Given the description of an element on the screen output the (x, y) to click on. 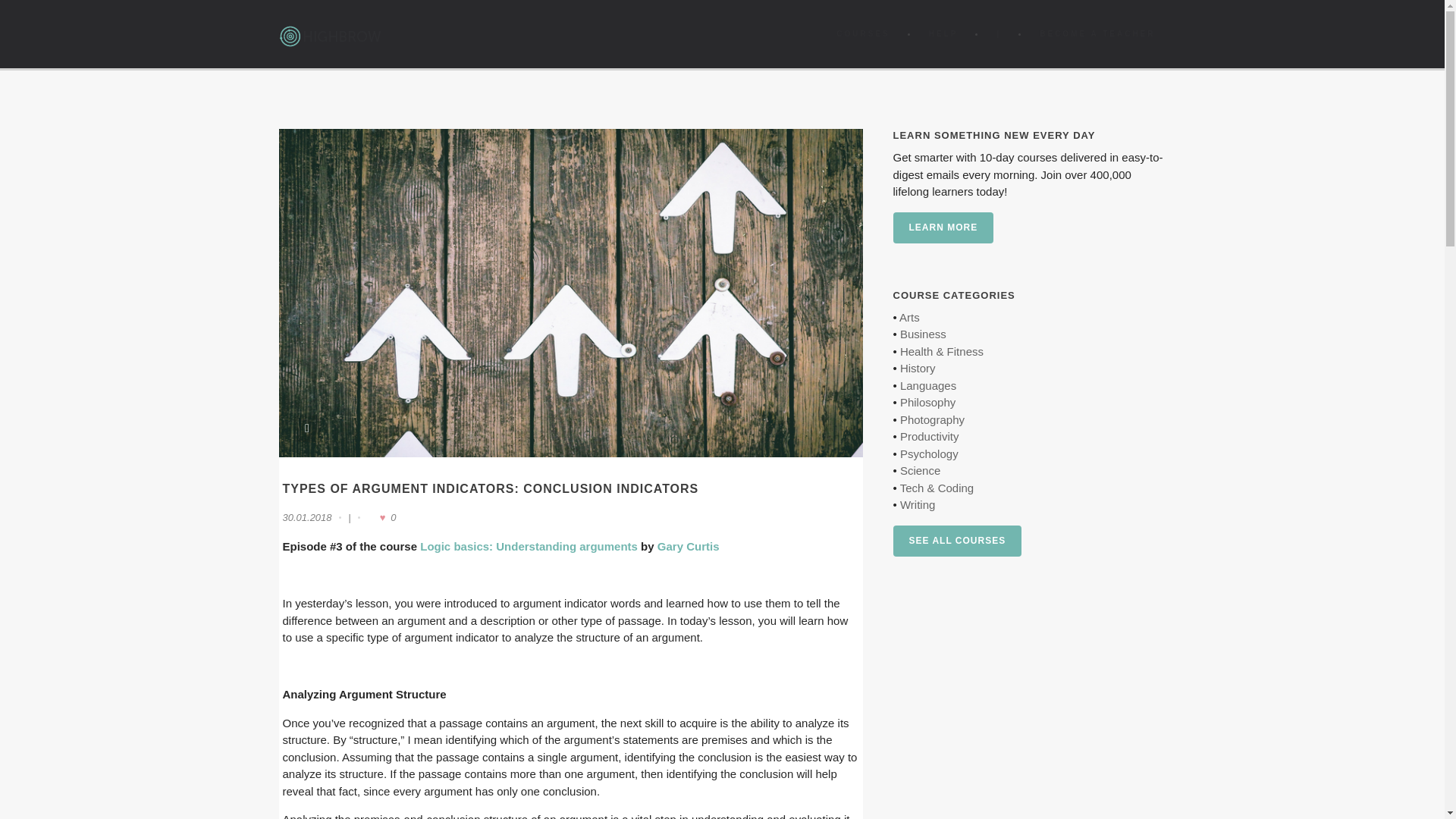
COURSES (862, 33)
Like this (381, 517)
Photography (931, 419)
Gary Curtis (688, 545)
SEE ALL COURSES (957, 540)
History (917, 367)
Courses (862, 33)
Writing (916, 504)
BECOME A TEACHER (1097, 33)
Psychology (928, 453)
Languages (927, 385)
Philosophy (927, 401)
Science (919, 470)
LEARN MORE (943, 227)
Arts (909, 317)
